Given the description of an element on the screen output the (x, y) to click on. 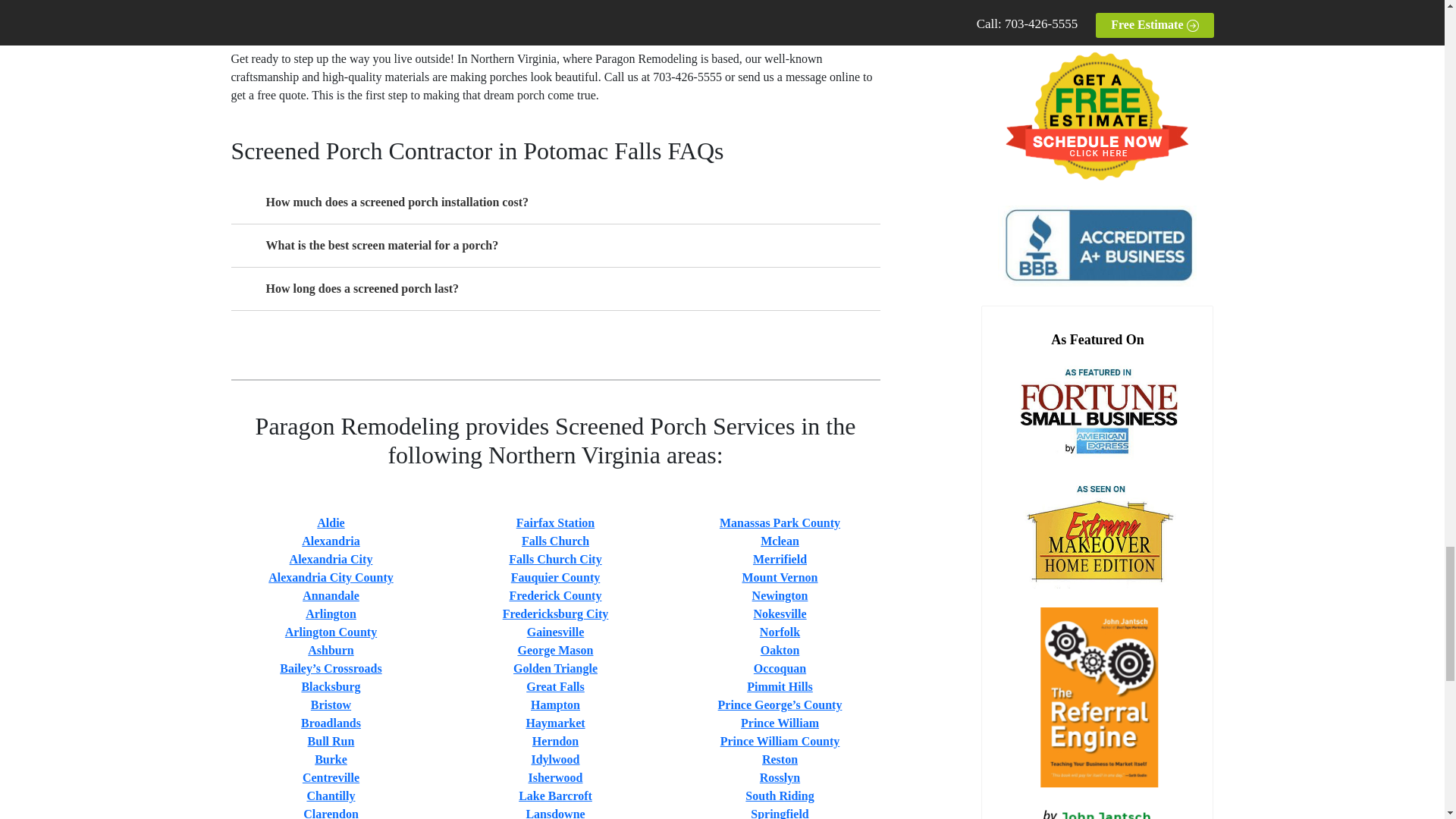
What is the best screen material for a porch? (554, 245)
Aldie (330, 522)
How long does a screened porch last? (554, 288)
How much does a screened porch installation cost? (554, 201)
Alexandria (330, 540)
